Given the description of an element on the screen output the (x, y) to click on. 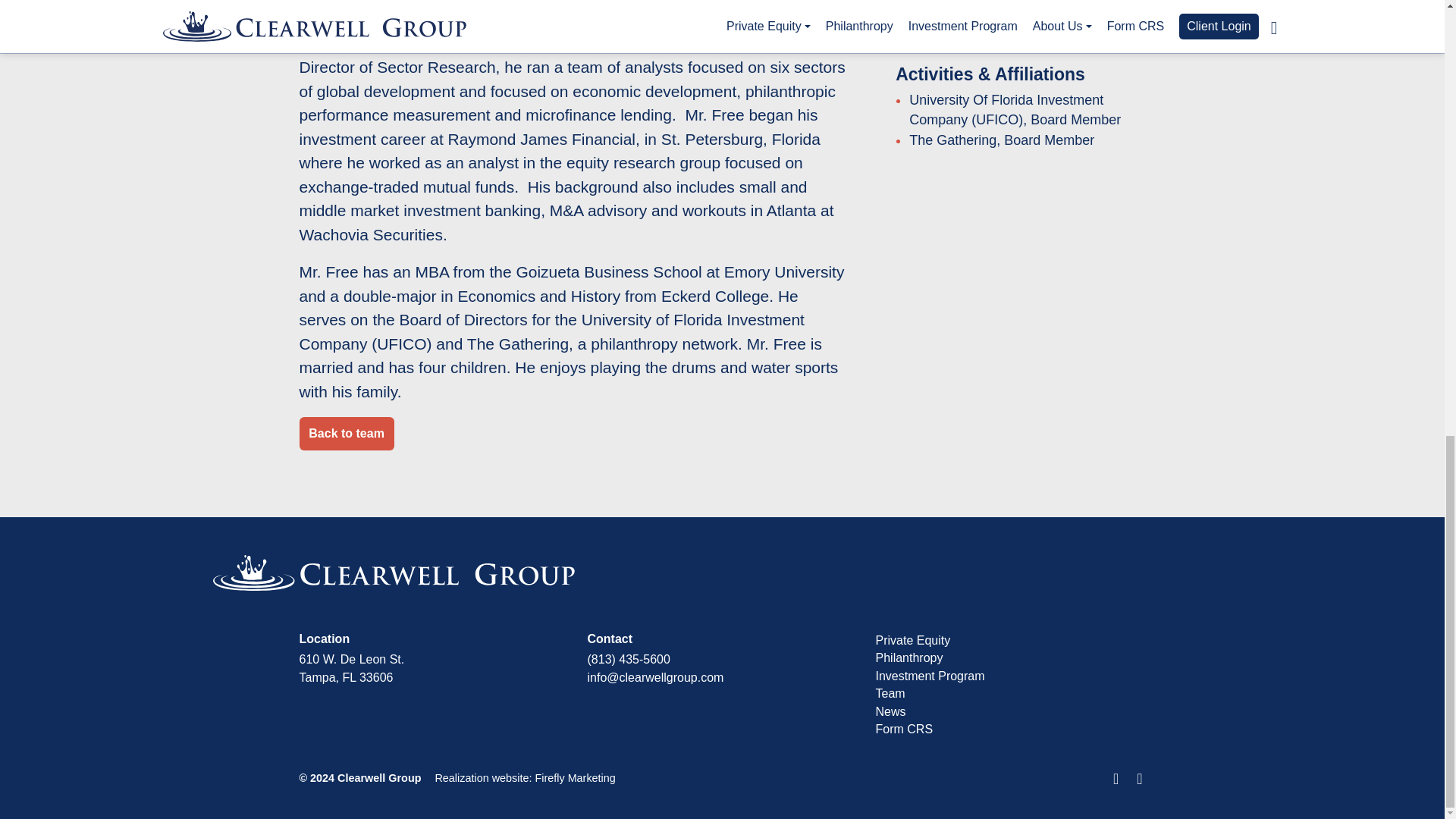
Back to overview (345, 432)
Form CRS (904, 728)
News (890, 711)
Philanthropy (908, 657)
Investment Program (929, 675)
Private Equity (912, 640)
Team (889, 693)
Back to team (345, 432)
Firefly Marketing (574, 777)
